Given the description of an element on the screen output the (x, y) to click on. 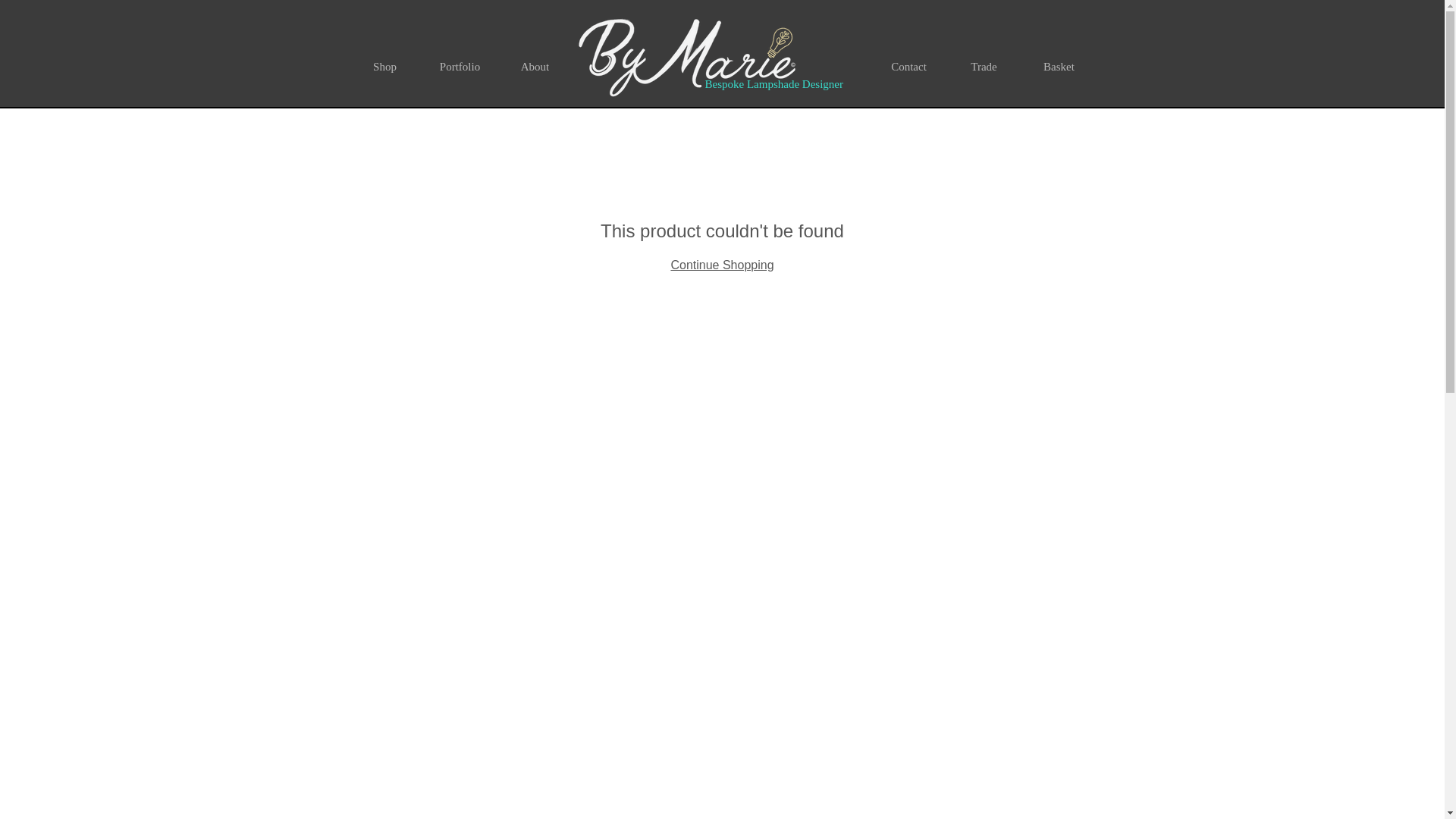
About (534, 66)
Portfolio (460, 66)
Continue Shopping (721, 264)
Contact (909, 66)
Bymarie (686, 57)
Shop (384, 66)
Basket (1059, 66)
Bespoke Lampshade Designer (773, 83)
Trade (983, 66)
